Given the description of an element on the screen output the (x, y) to click on. 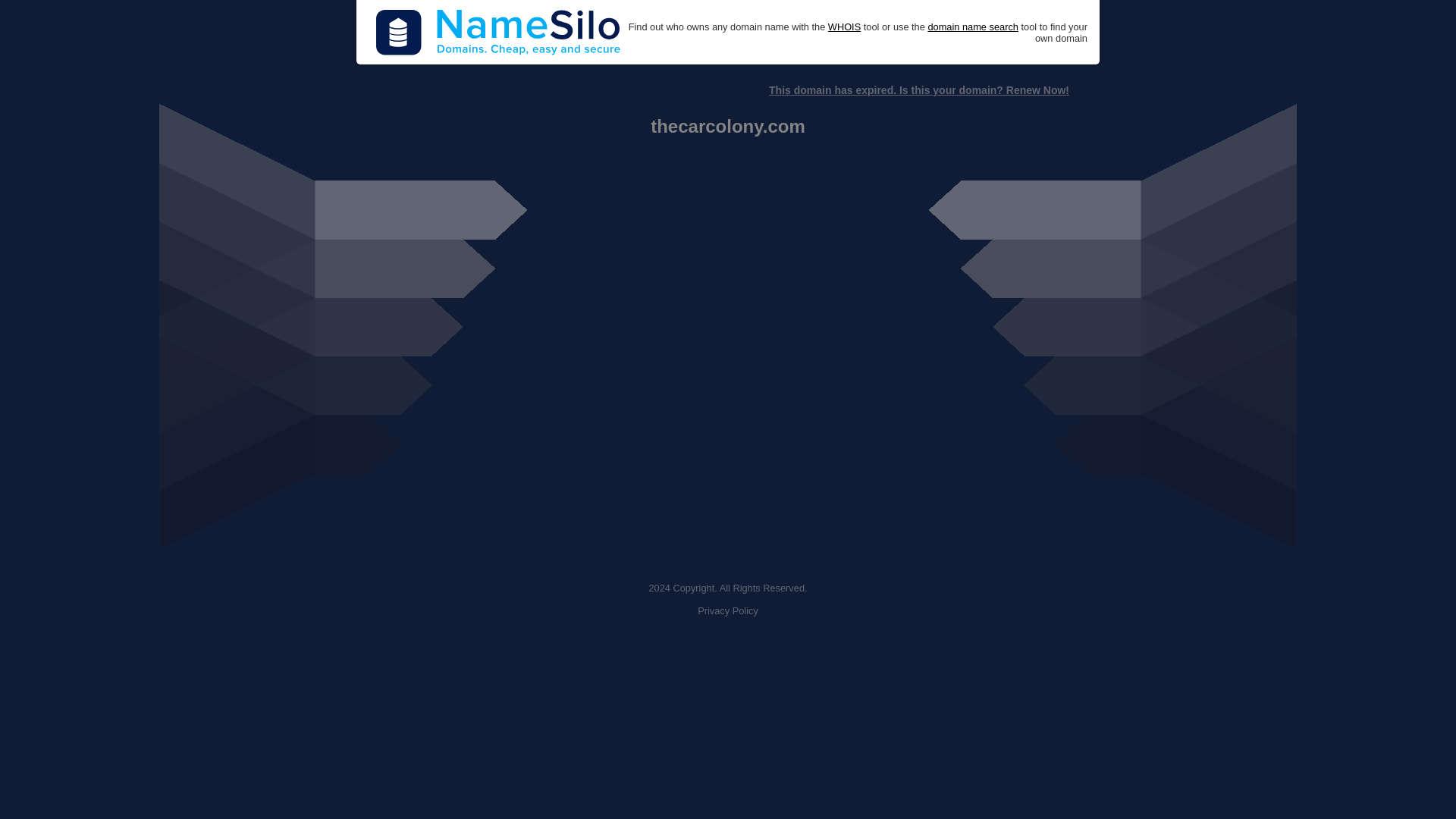
This domain has expired. Is this your domain? Renew Now! (918, 90)
Privacy Policy (727, 610)
WHOIS (844, 26)
domain name search (972, 26)
